Given the description of an element on the screen output the (x, y) to click on. 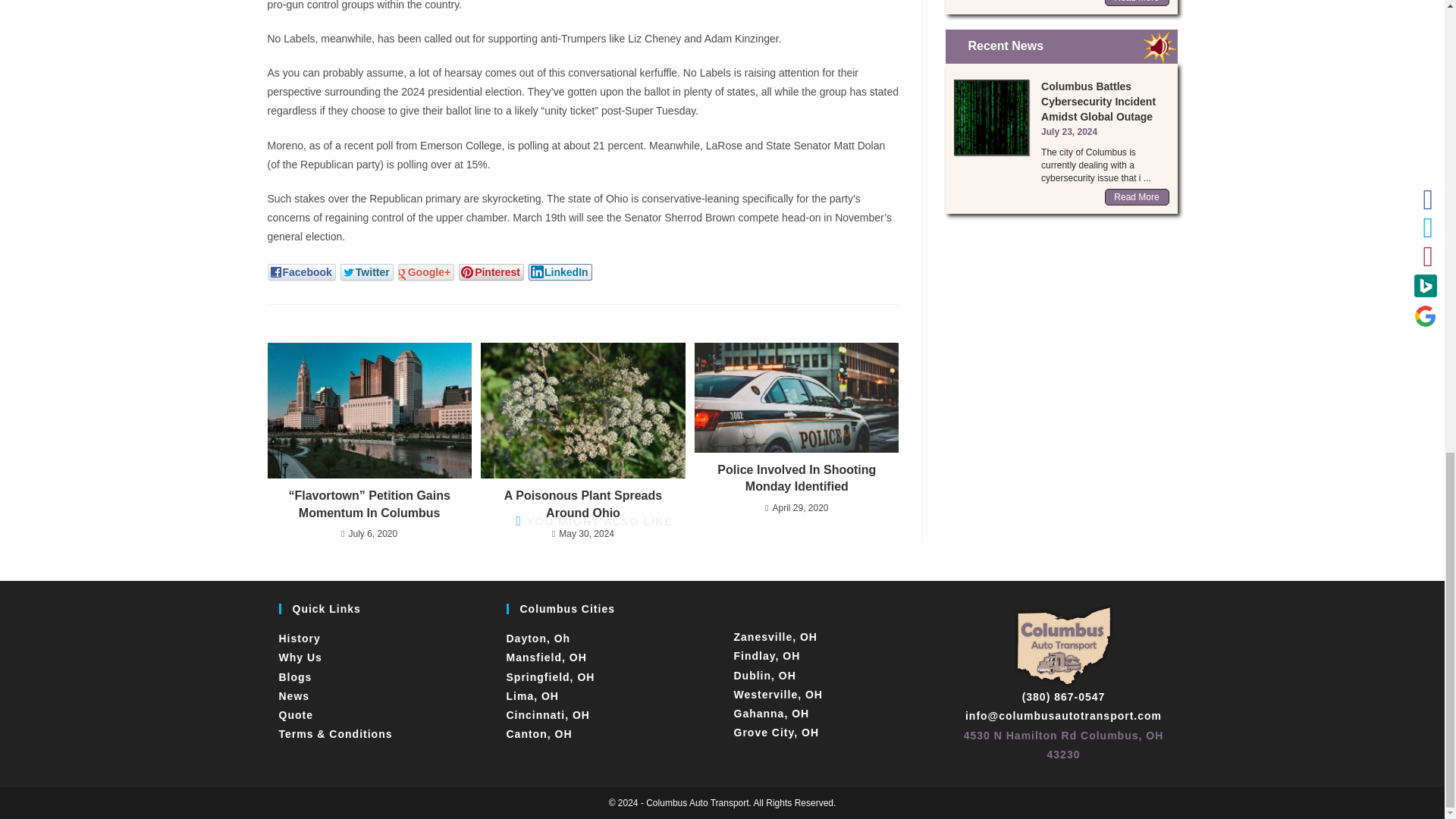
Share link on Twitter (366, 271)
Share image on Pinterest (491, 271)
Share link on LinkedIn (560, 271)
Share link on Facebook (300, 271)
